Given the description of an element on the screen output the (x, y) to click on. 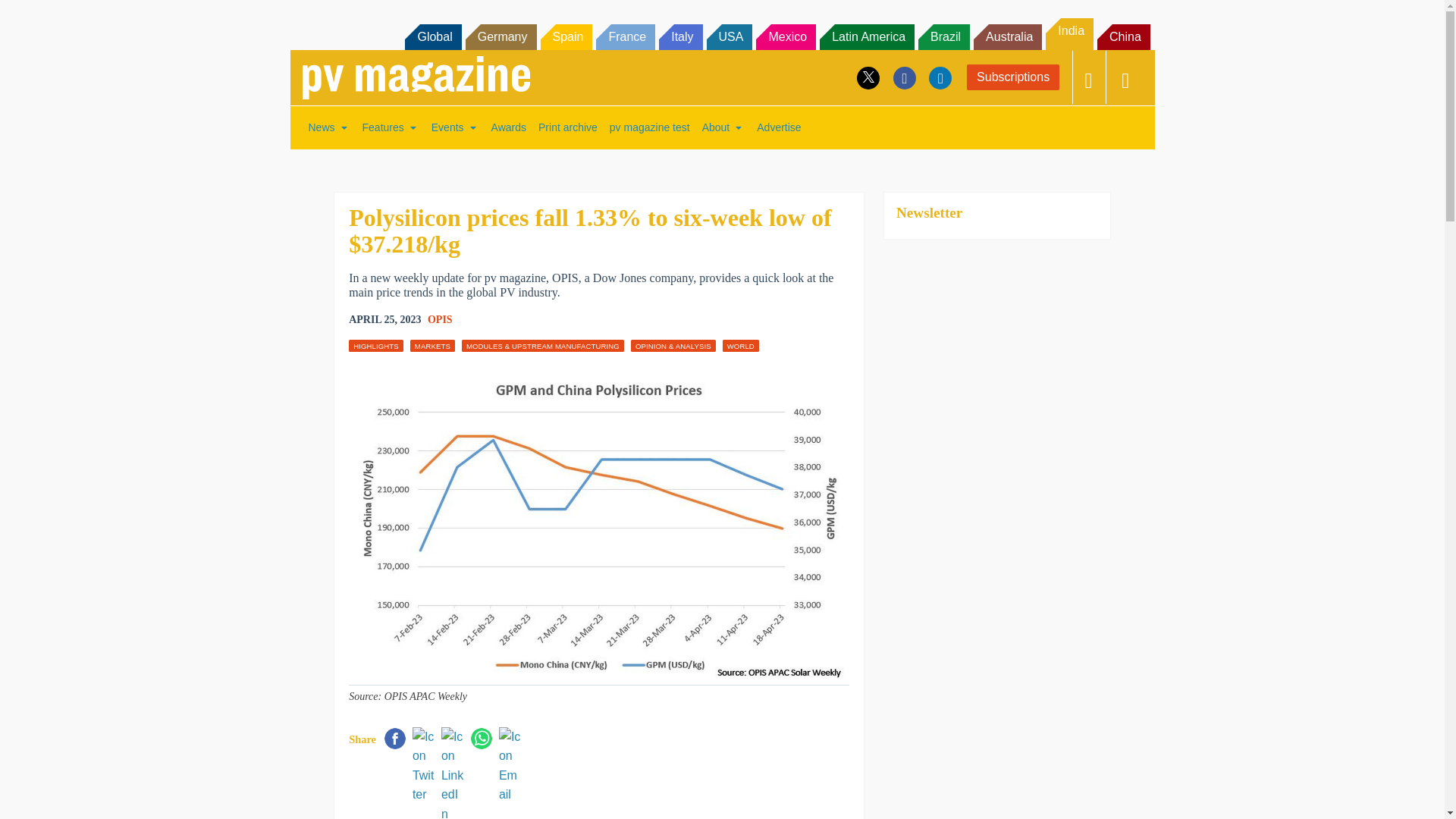
Latin America (866, 36)
Australia (1008, 36)
India (1069, 33)
Mexico (785, 36)
Subscriptions (1012, 77)
Spain (566, 36)
Germany (501, 36)
Search (32, 15)
Italy (680, 36)
USA (729, 36)
Tuesday, April 25, 2023, 10:06 am (384, 320)
pv magazine - Photovoltaics Markets and Technology (415, 77)
Global (432, 36)
China (1123, 36)
pv magazine - Photovoltaics Markets and Technology (415, 77)
